Given the description of an element on the screen output the (x, y) to click on. 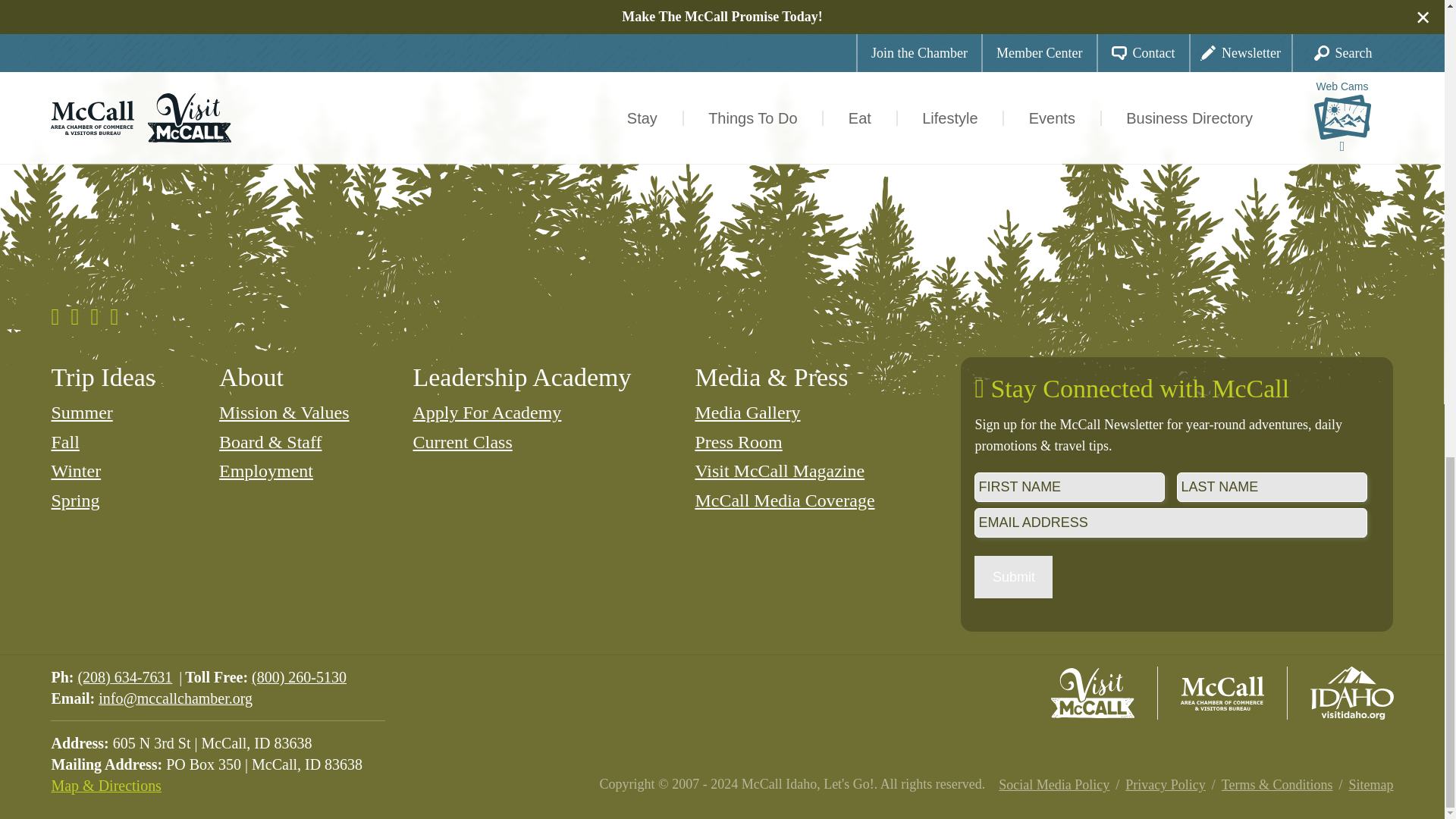
Submit (1013, 577)
McCall Chamber (1221, 693)
Visit McCall (1092, 693)
Visit Idaho (1351, 692)
